Given the description of an element on the screen output the (x, y) to click on. 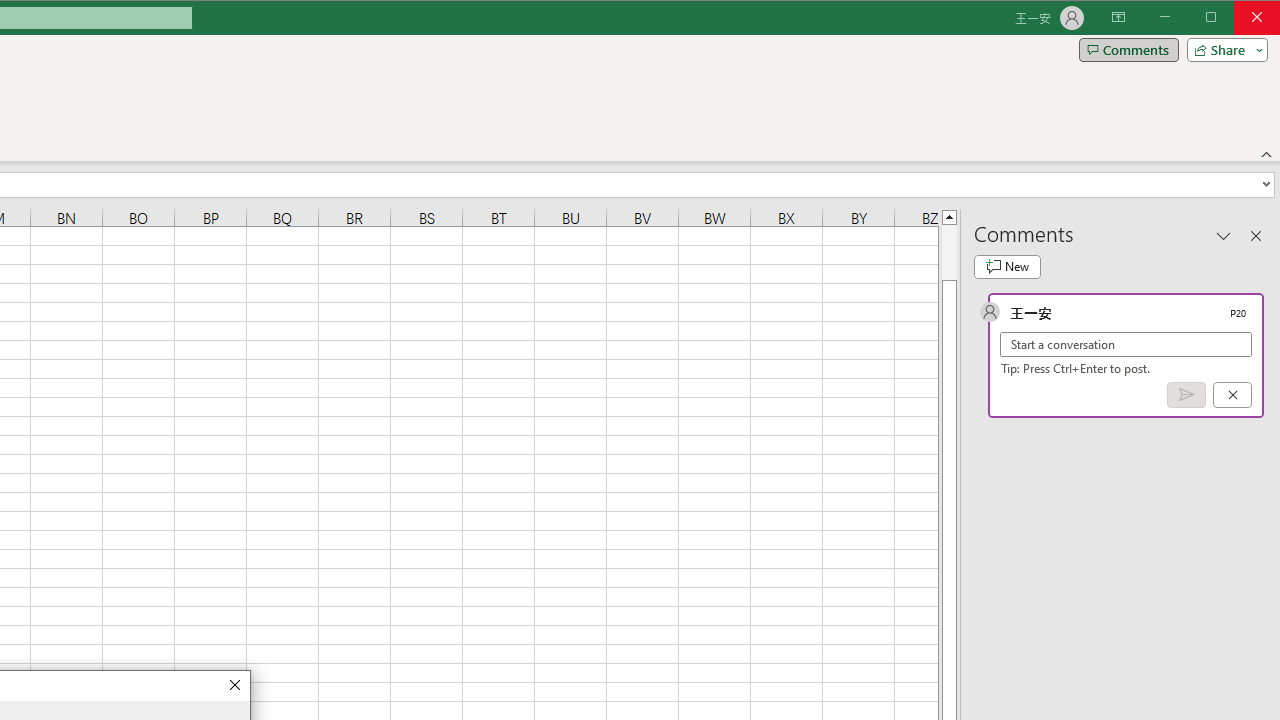
Minimize (1217, 18)
Line up (948, 216)
